Given the description of an element on the screen output the (x, y) to click on. 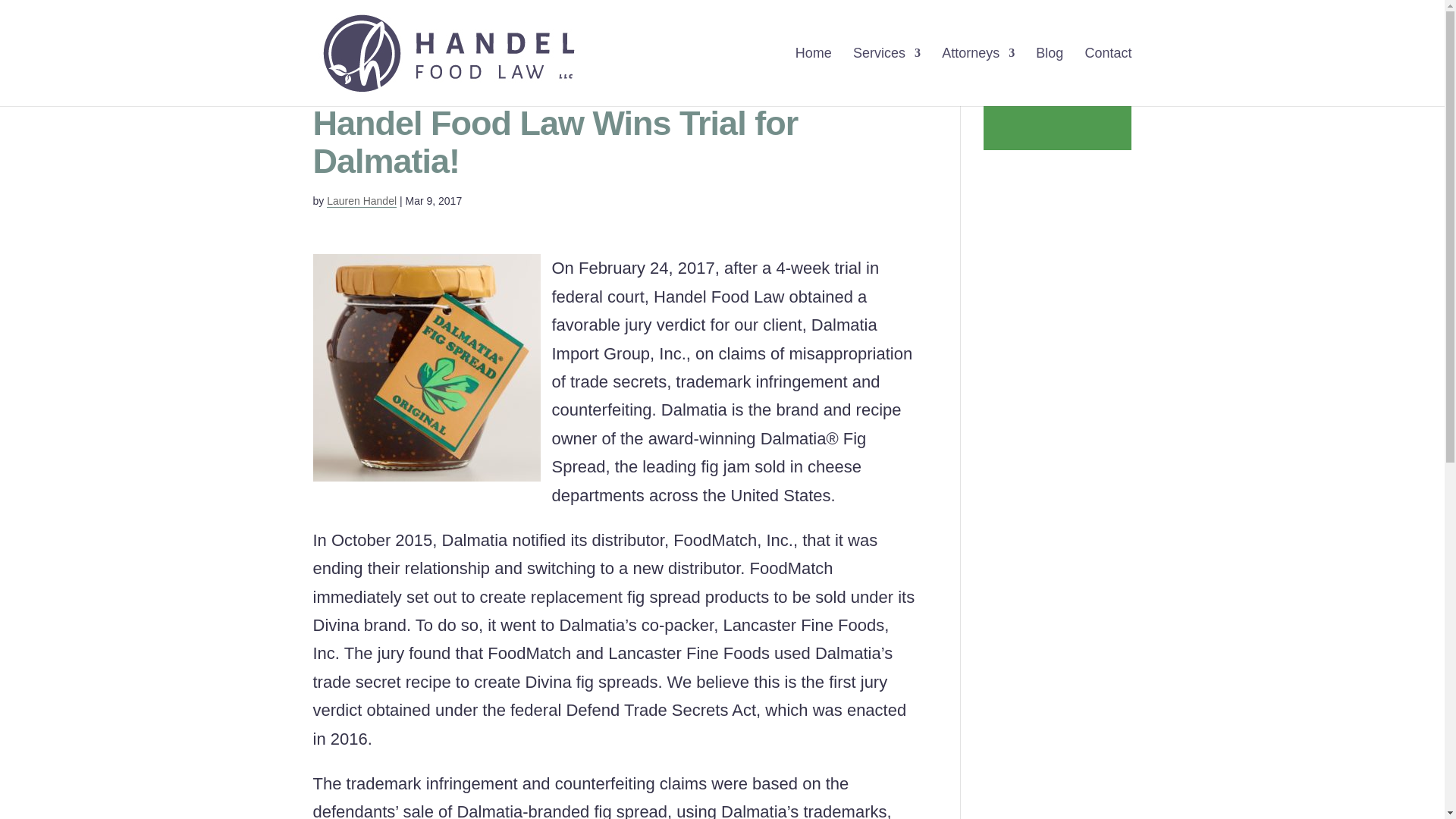
Lauren Handel (361, 201)
Services (886, 76)
Attorneys (978, 76)
Posts by Lauren Handel (361, 201)
